Given the description of an element on the screen output the (x, y) to click on. 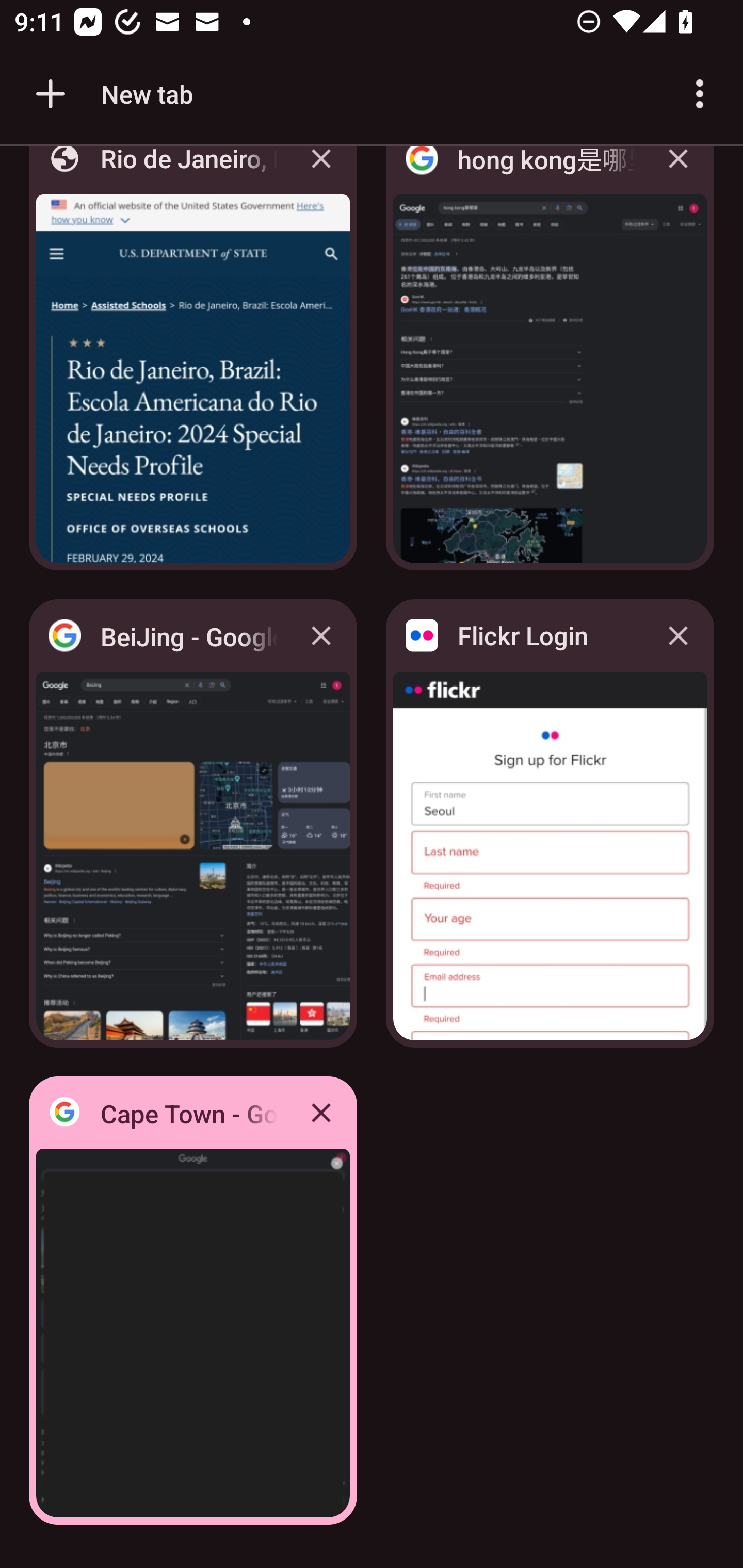
New tab (111, 93)
Customize and control Google Chrome (699, 93)
Close hong kong是哪里 - Google 搜索 tab (677, 173)
Close BeiJing - Google 搜索 tab (320, 635)
Close Flickr Login tab (677, 635)
Close Cape Town - Google 搜索 tab (320, 1112)
